Given the description of an element on the screen output the (x, y) to click on. 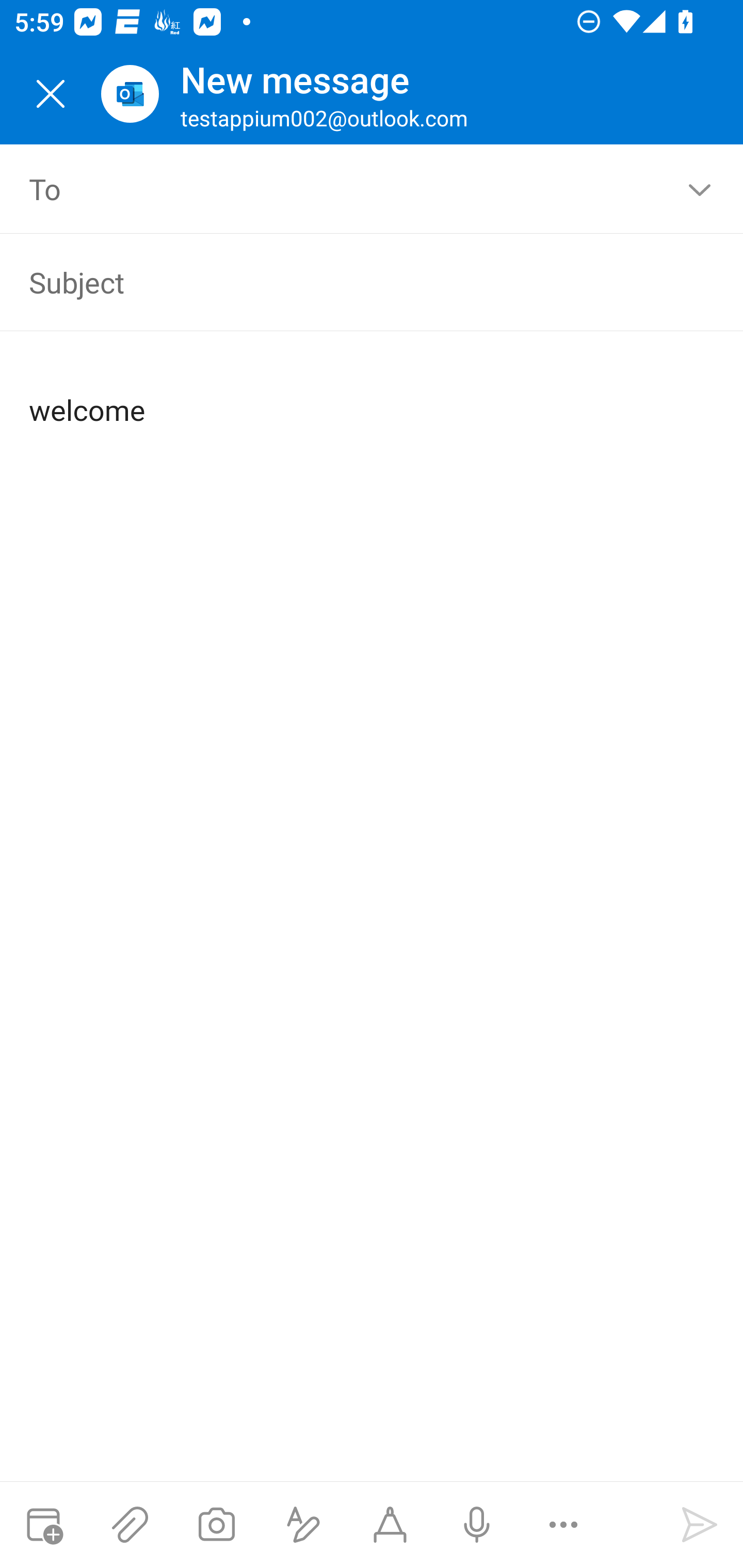
Close (50, 93)
Subject (342, 281)

welcome (372, 394)
Attach meeting (43, 1524)
Attach files (129, 1524)
Take a photo (216, 1524)
Show formatting options (303, 1524)
Start Ink compose (389, 1524)
Dictation (476, 1524)
More options (563, 1524)
Send (699, 1524)
